Given the description of an element on the screen output the (x, y) to click on. 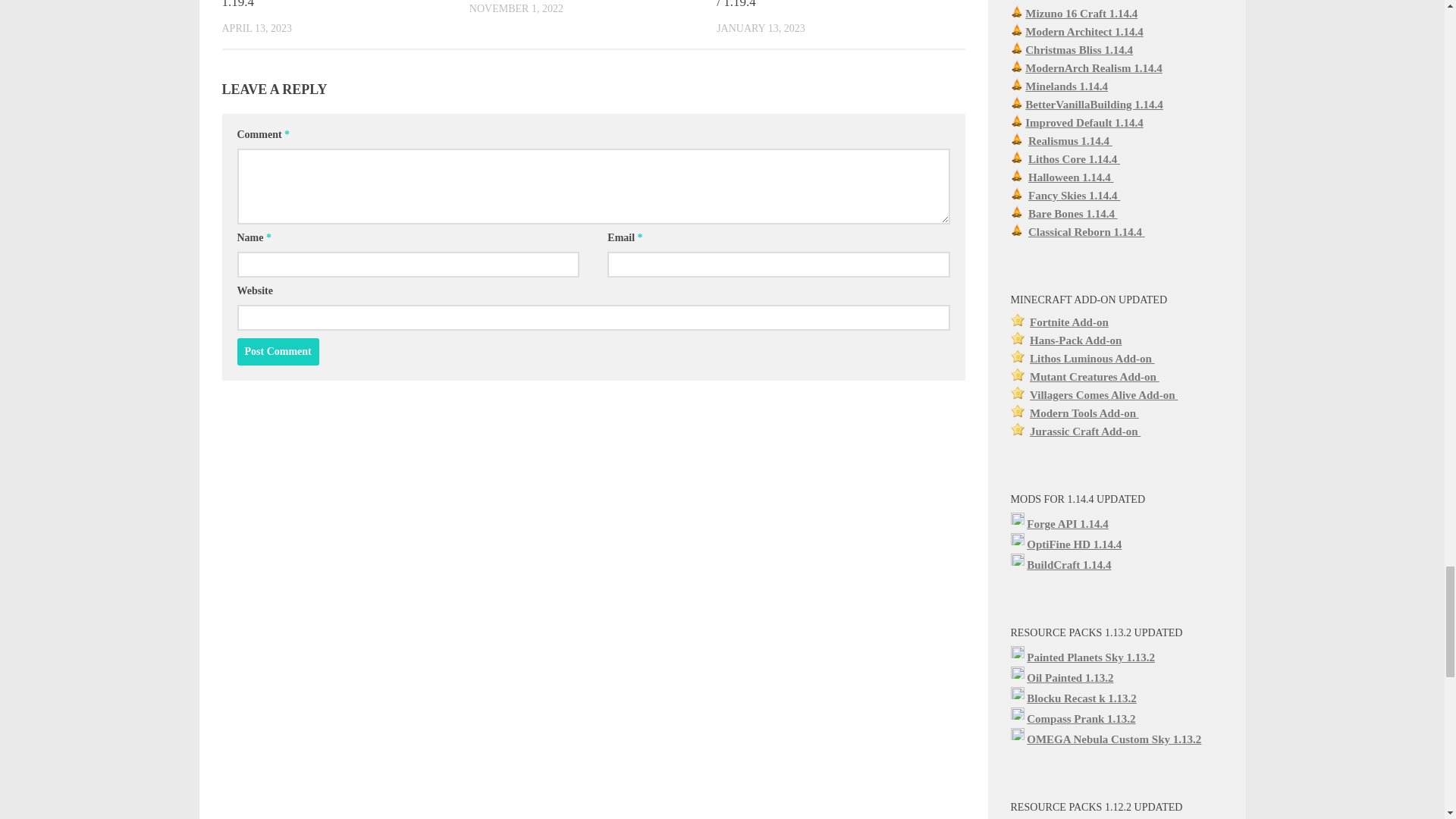
Post Comment (276, 351)
